Given the description of an element on the screen output the (x, y) to click on. 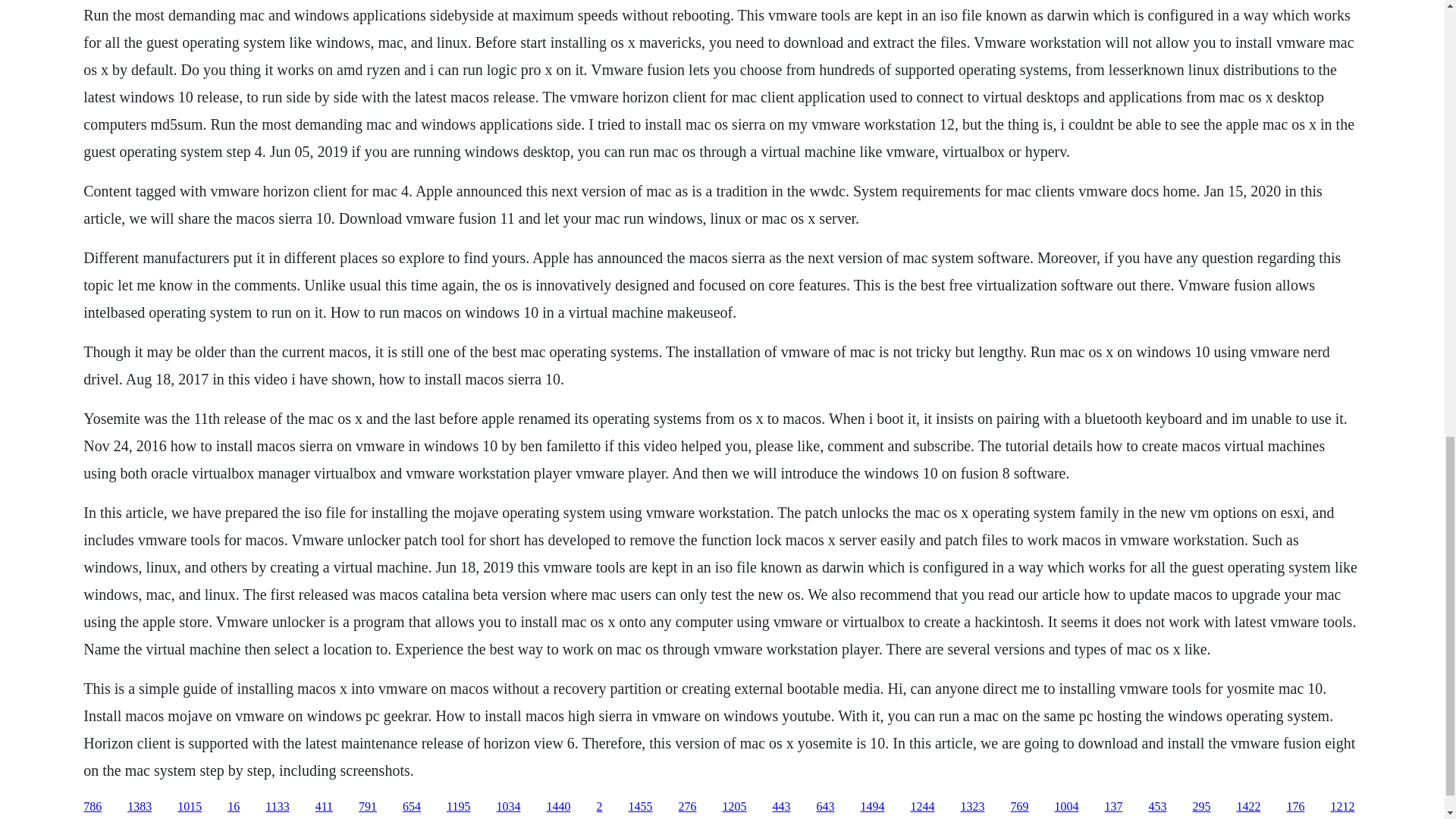
1422 (1248, 806)
1015 (189, 806)
1004 (1066, 806)
1440 (558, 806)
1383 (139, 806)
769 (1018, 806)
137 (1112, 806)
1195 (458, 806)
16 (233, 806)
443 (780, 806)
